Given the description of an element on the screen output the (x, y) to click on. 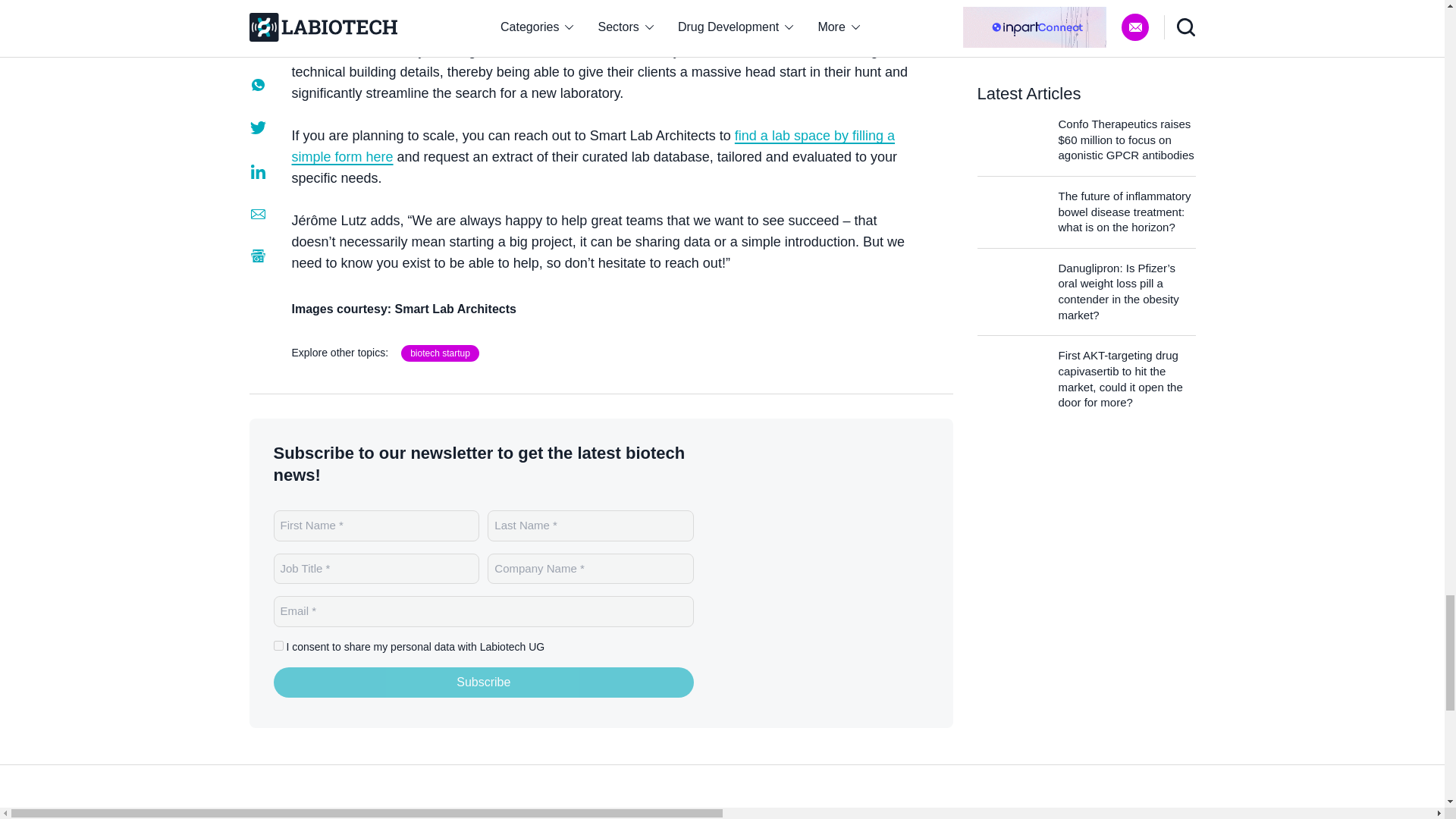
1 (277, 645)
Labiotech.eu (309, 816)
Subscribe (483, 682)
